Given the description of an element on the screen output the (x, y) to click on. 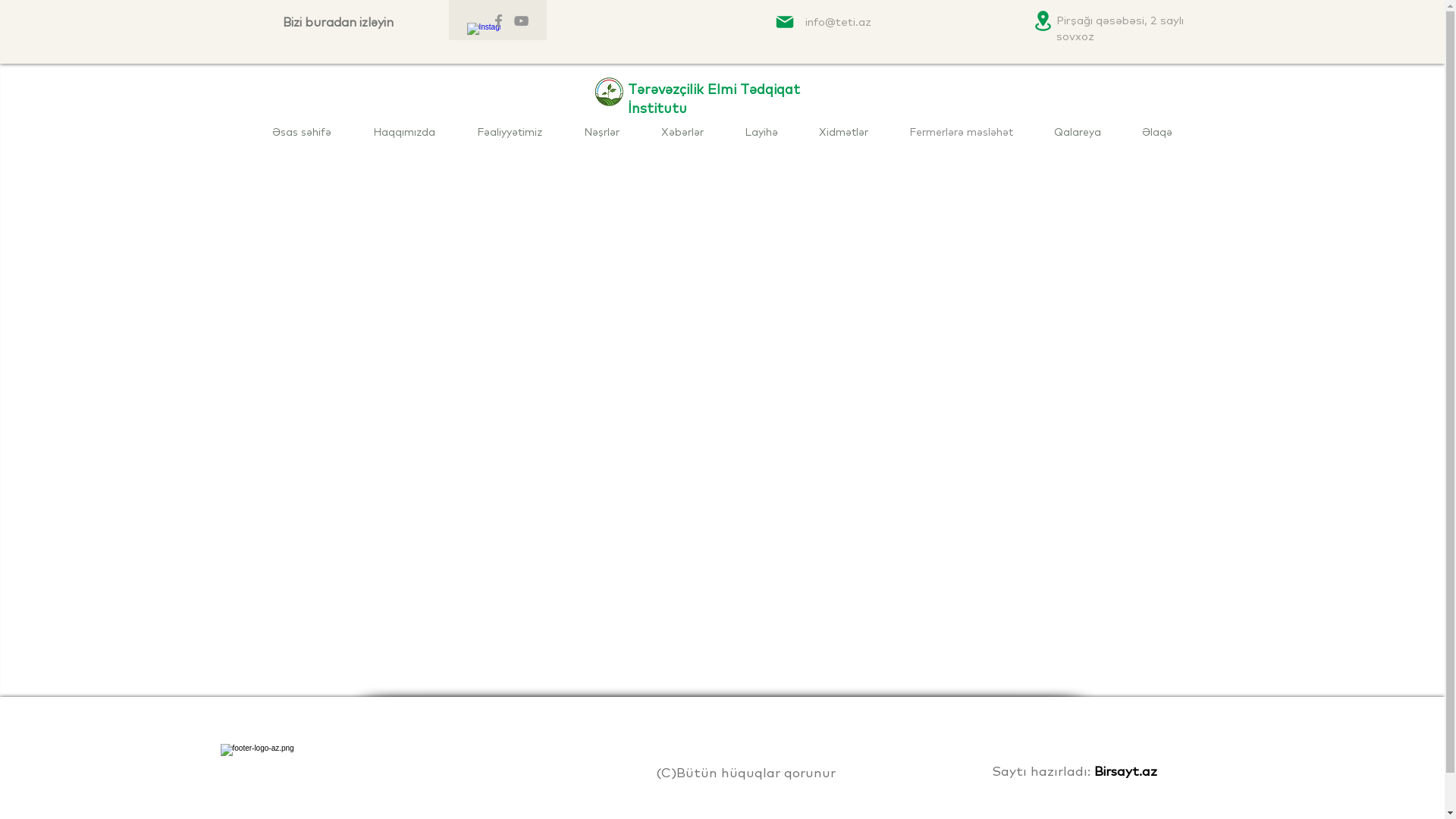
Qalareya Element type: text (1076, 132)
info@teti.az Element type: text (838, 21)
